Given the description of an element on the screen output the (x, y) to click on. 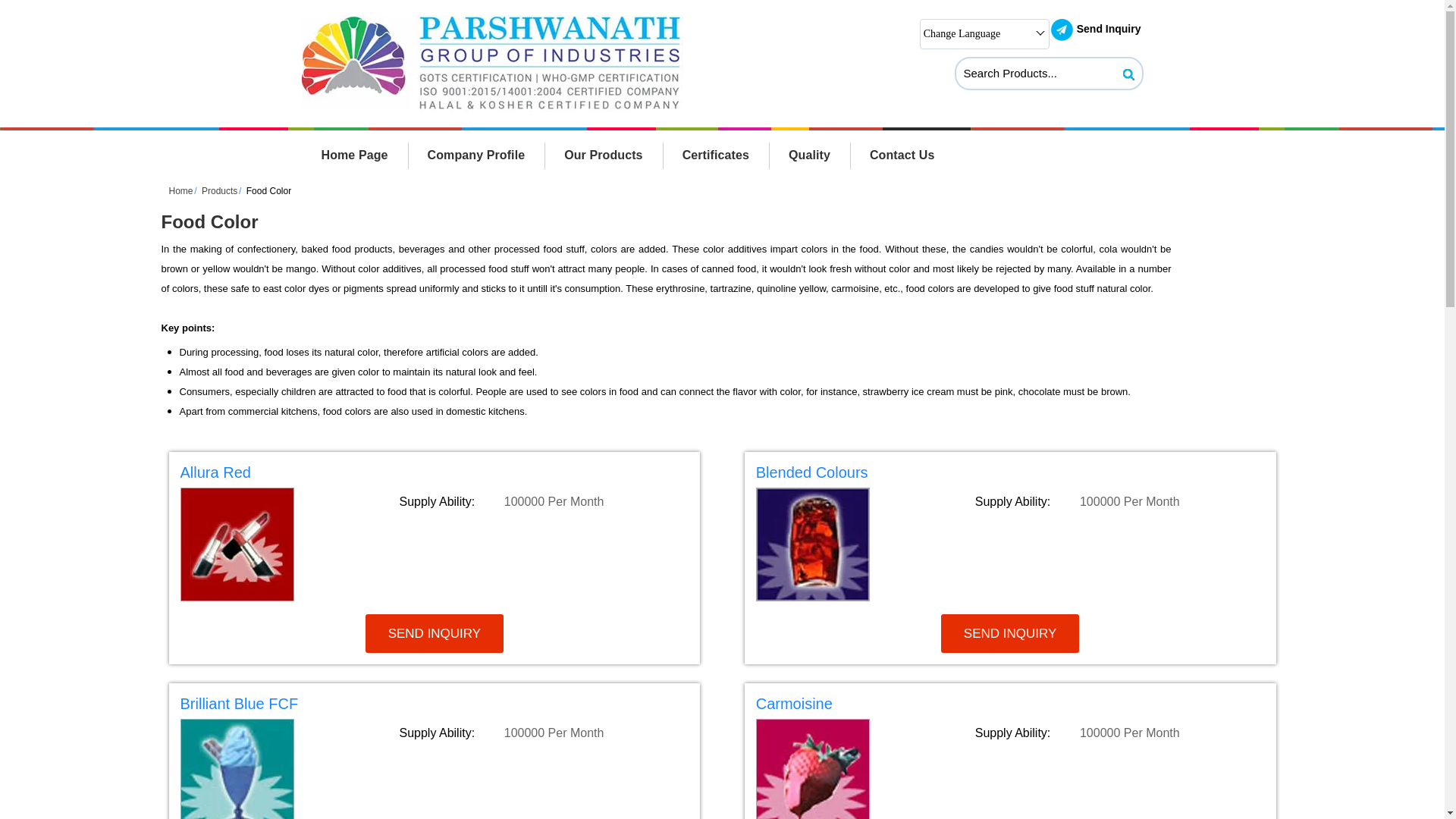
Parshwanath Dyestuff (491, 63)
Blended Colours (1010, 475)
Supply Ability: 100000 Per Month (1119, 501)
Allura Red (434, 475)
Carmoisine (1010, 706)
Brilliant Blue FCF (434, 706)
Company Profile (475, 155)
Supply Ability: 100000 Per Month (542, 501)
Supply Ability: 100000 Per Month (1119, 732)
Send Inquiry (1062, 29)
